Given the description of an element on the screen output the (x, y) to click on. 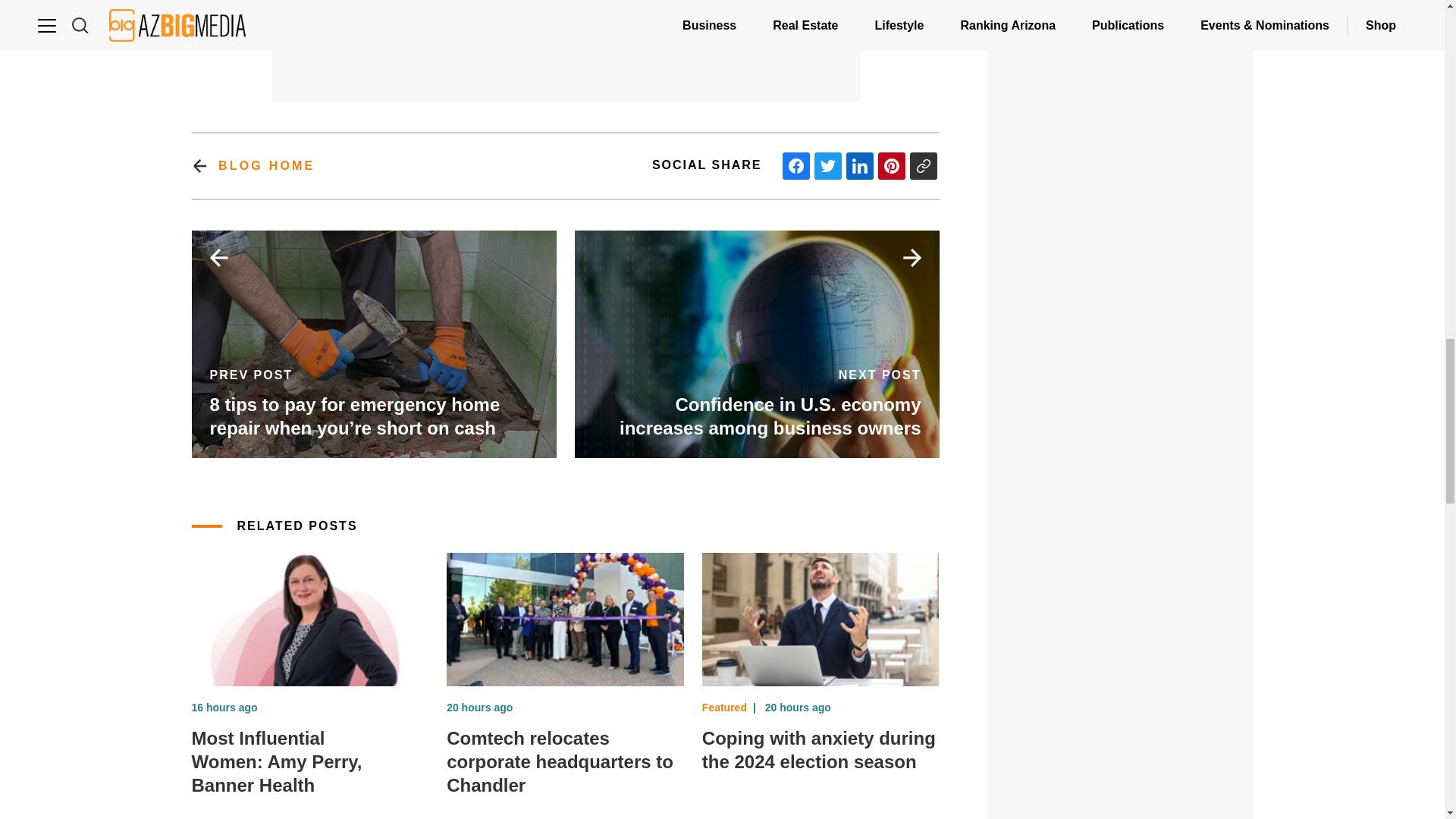
3rd party ad content (565, 49)
3rd party ad content (1120, 10)
3rd party ad content (1120, 644)
3rd party ad content (1120, 285)
